Given the description of an element on the screen output the (x, y) to click on. 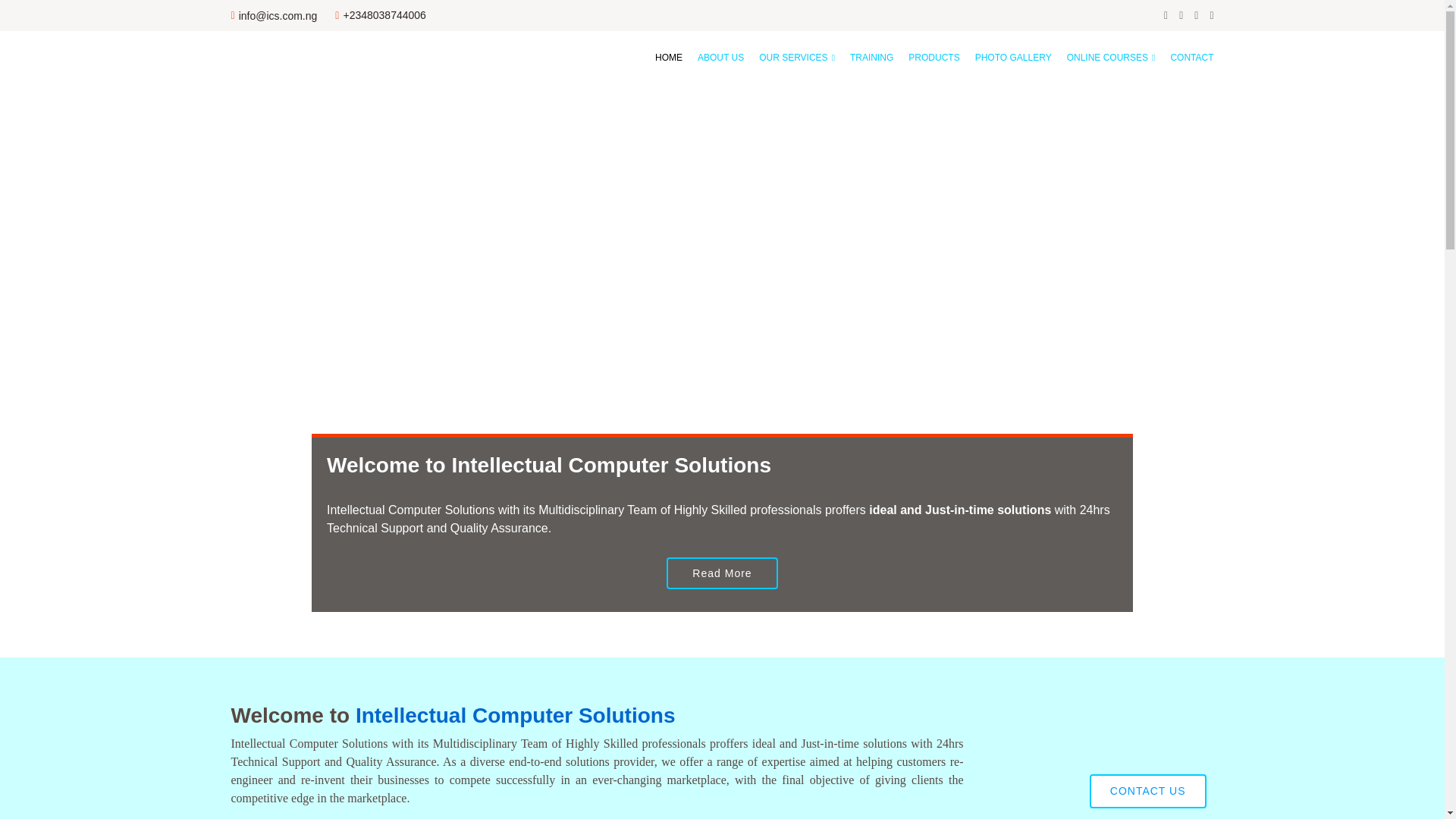
CONTACT (1183, 57)
OUR SERVICES (789, 57)
PRODUCTS (926, 57)
PHOTO GALLERY (1005, 57)
TRAINING (863, 57)
ONLINE COURSES (1103, 57)
Read More (721, 572)
ABOUT US (713, 57)
HOME (661, 57)
